Given the description of an element on the screen output the (x, y) to click on. 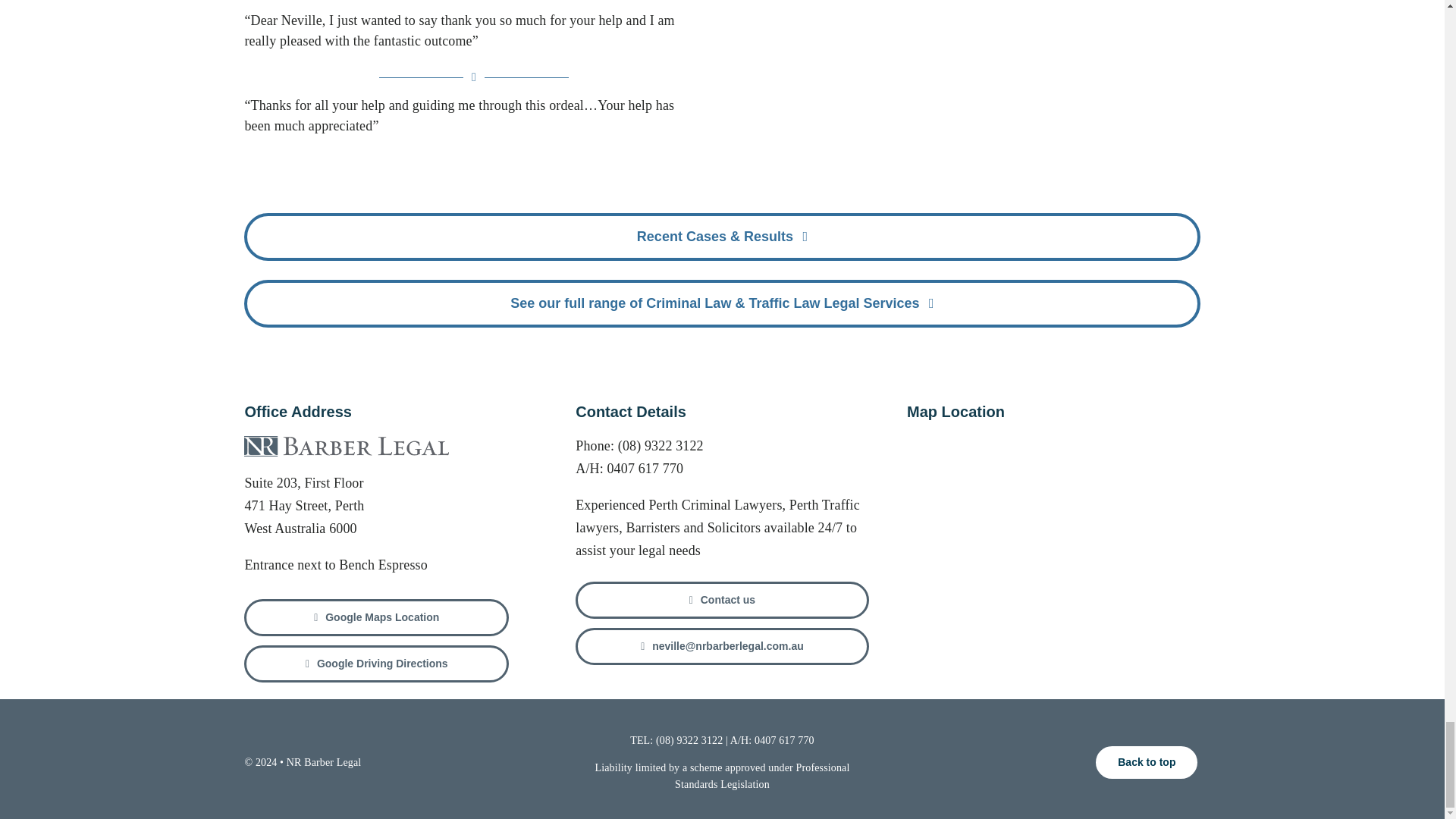
NR-barber-logo-50 (346, 445)
Back to top (1146, 762)
Google Driving Directions (376, 663)
Contact us (721, 600)
Google Maps Location (376, 617)
